Given the description of an element on the screen output the (x, y) to click on. 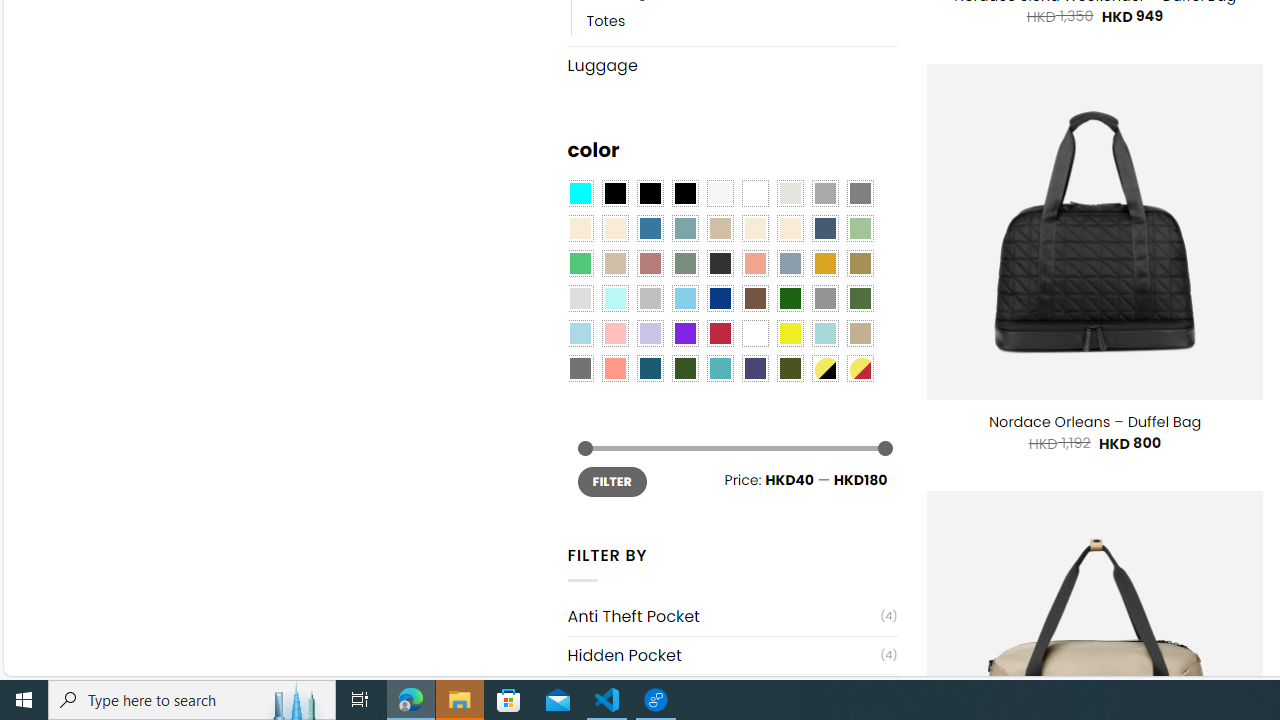
Sky Blue (684, 298)
Green (859, 298)
Caramel (755, 228)
Emerald Green (579, 264)
Light Purple (650, 334)
Pearly White (719, 193)
White (755, 334)
